Given the description of an element on the screen output the (x, y) to click on. 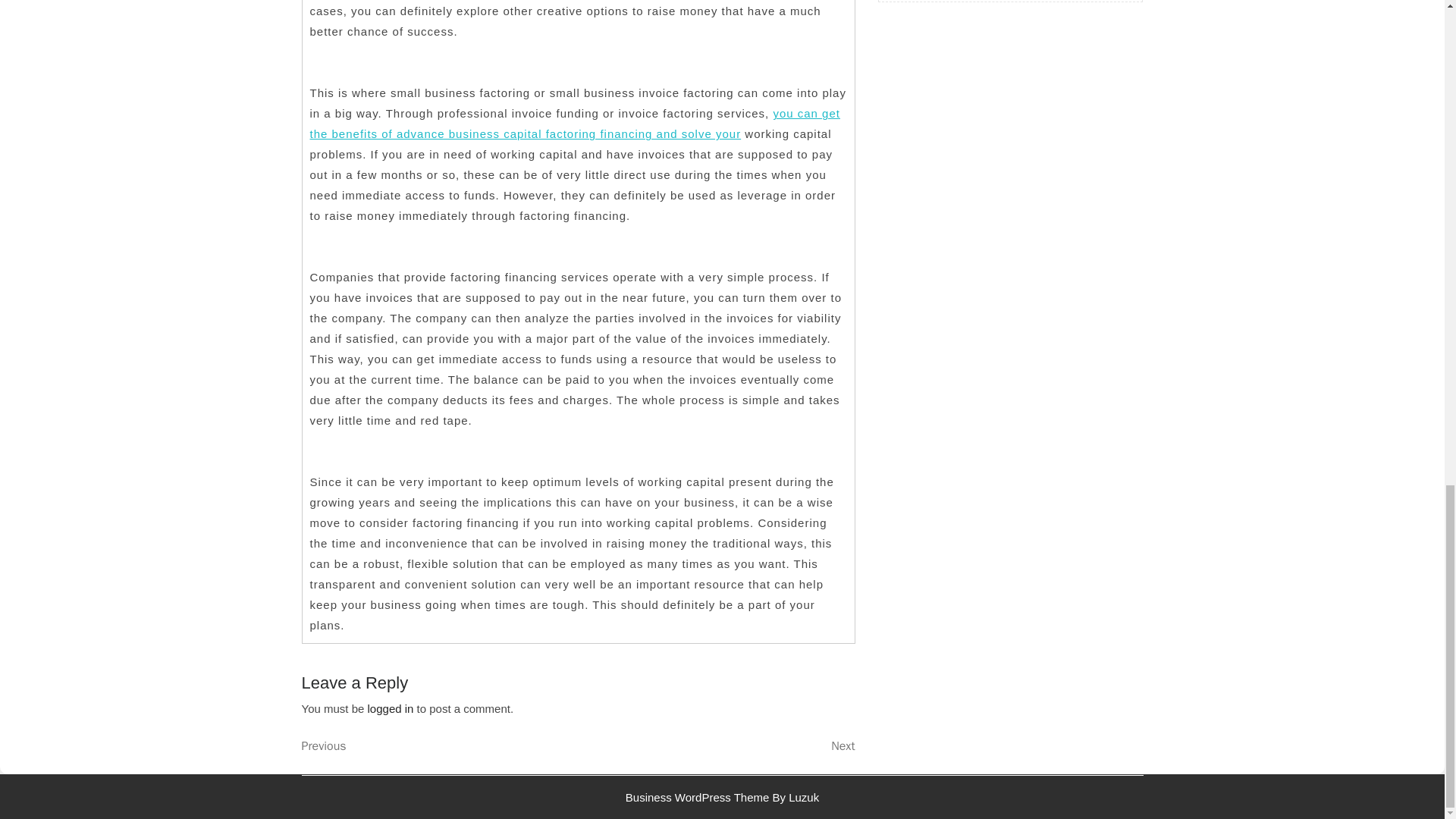
Business WordPress Theme By Luzuk (716, 746)
logged in (721, 797)
Get more about Why get an invoice advance loan (390, 707)
